Given the description of an element on the screen output the (x, y) to click on. 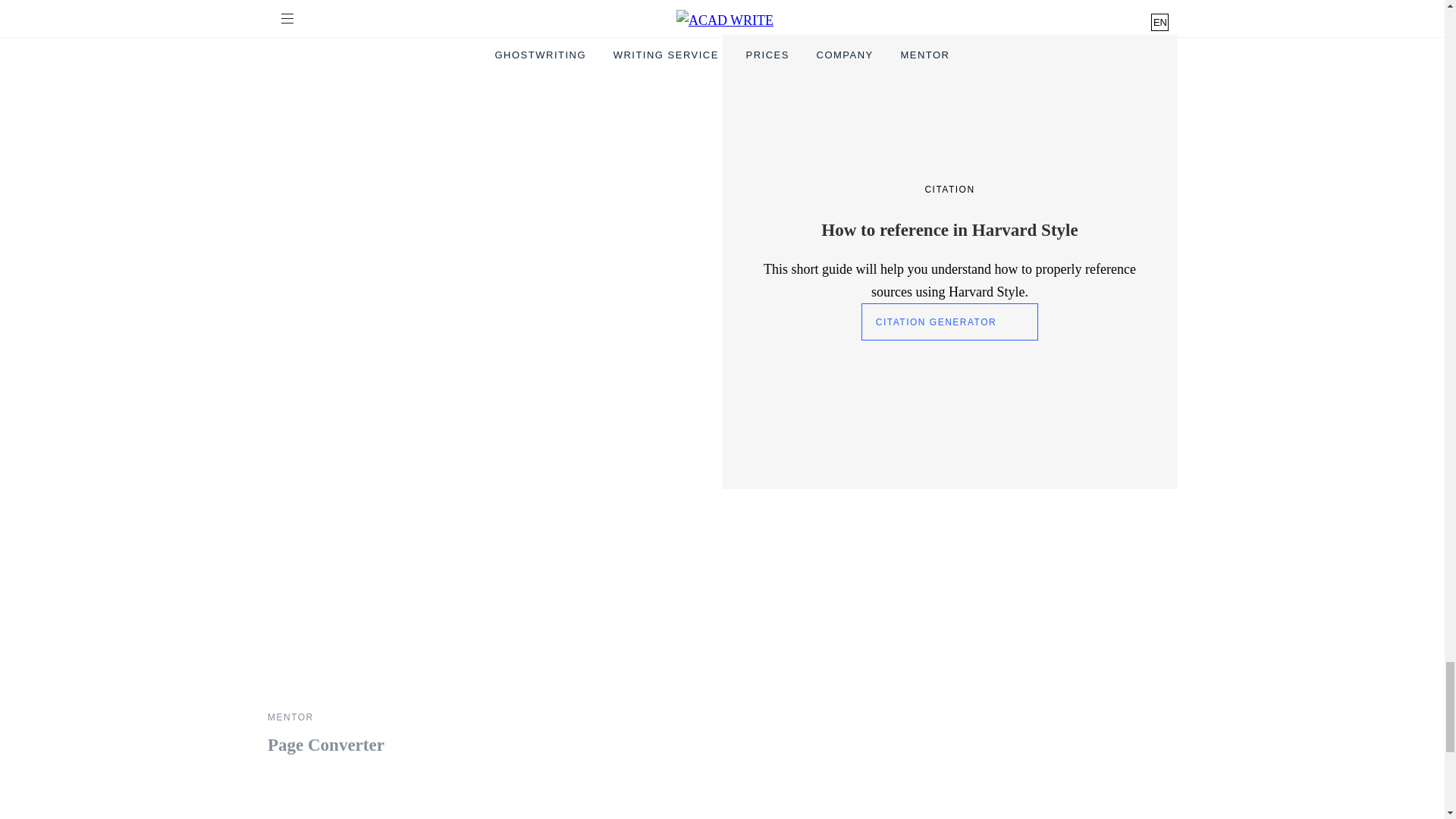
Page Converter (325, 745)
arrow-left (1012, 472)
Page Converter (403, 611)
arrow-right (1115, 472)
Page Converter (403, 698)
